Given the description of an element on the screen output the (x, y) to click on. 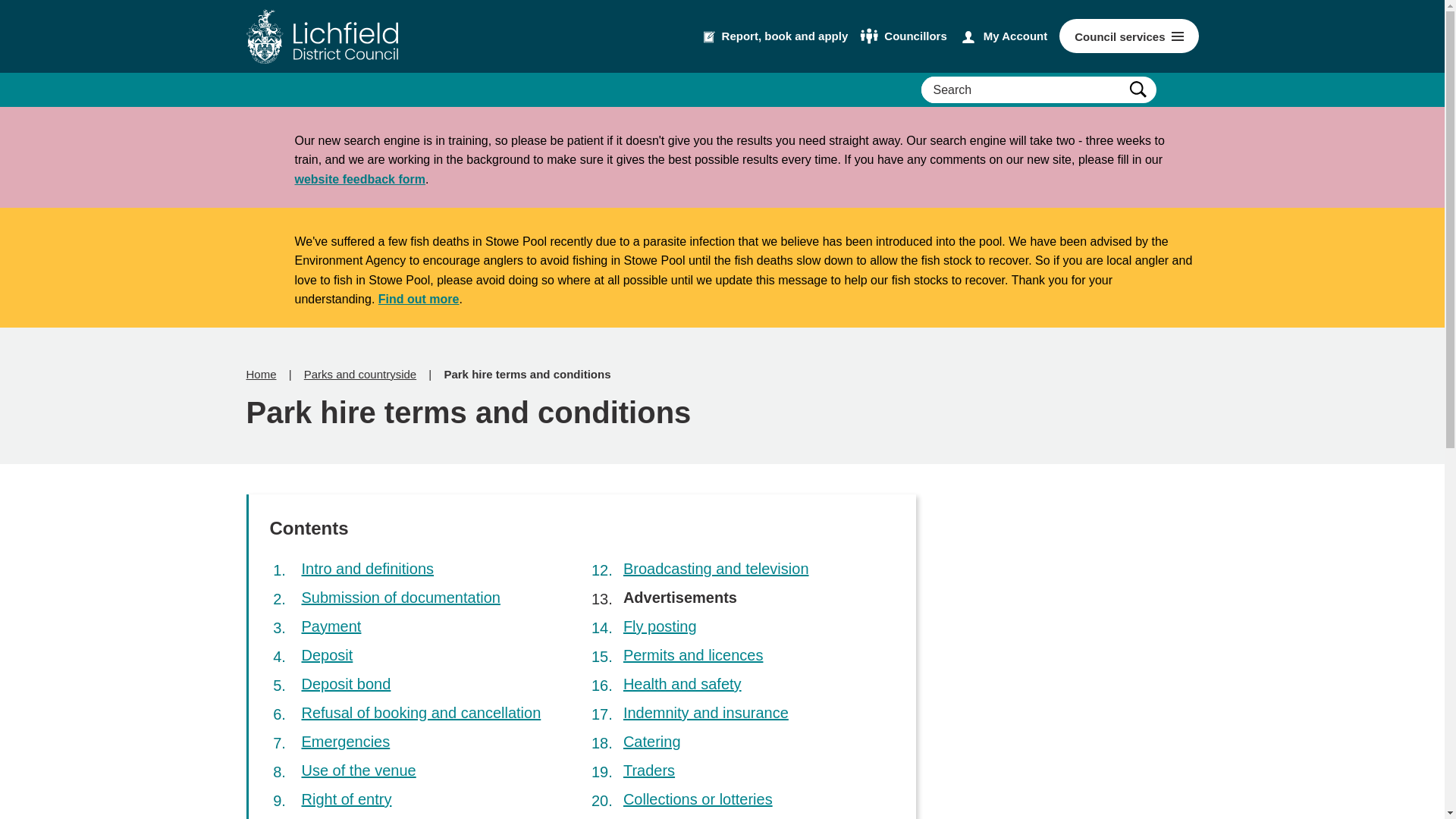
Search (1137, 89)
Council services (1128, 35)
Report, book and apply (775, 36)
website feedback form (359, 178)
My Account (1002, 36)
Councillors (903, 36)
Find out more (419, 298)
Home (261, 374)
Parks and countryside (360, 374)
